Given the description of an element on the screen output the (x, y) to click on. 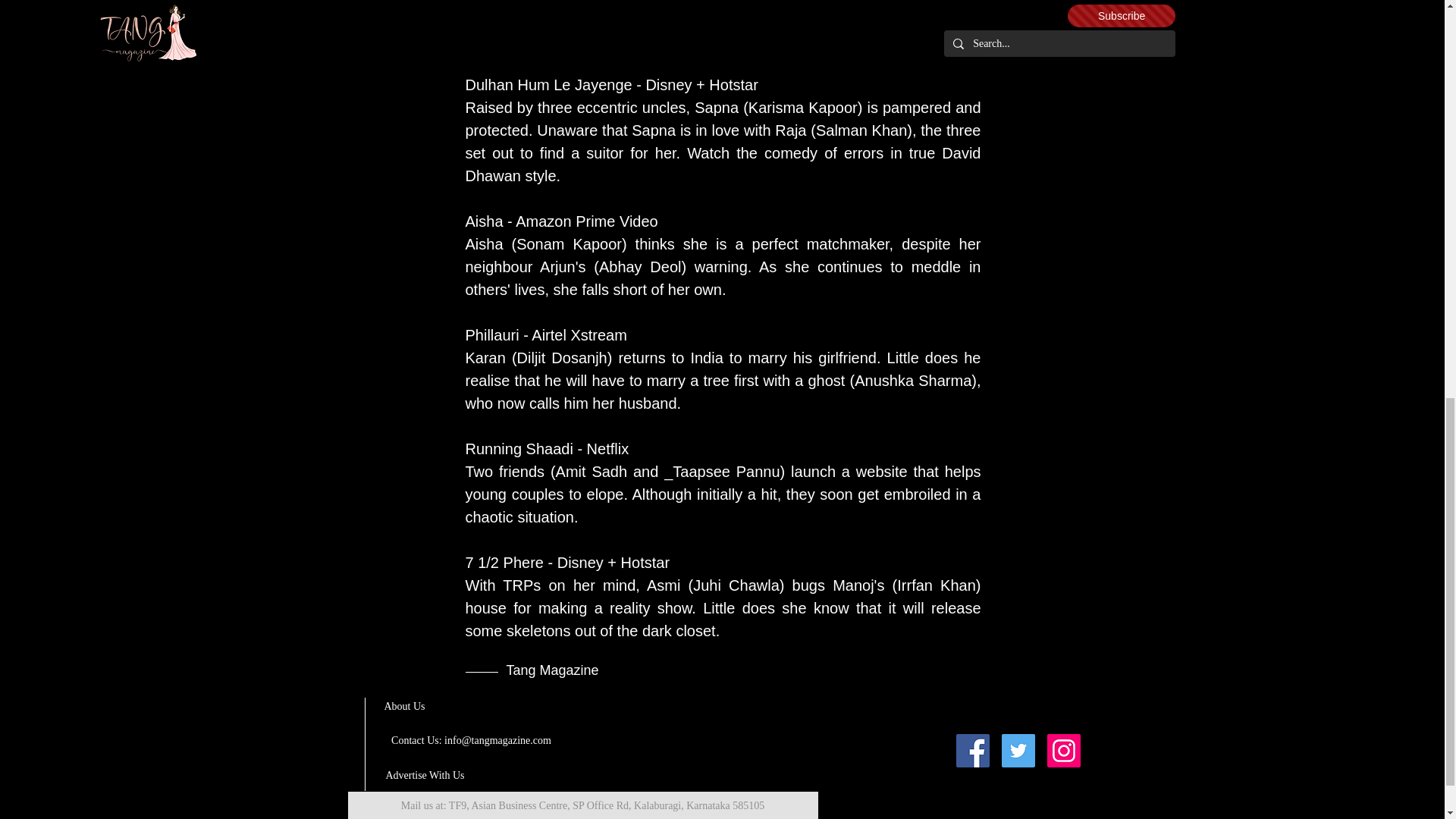
About Us (404, 706)
Advertise With Us (425, 775)
